Given the description of an element on the screen output the (x, y) to click on. 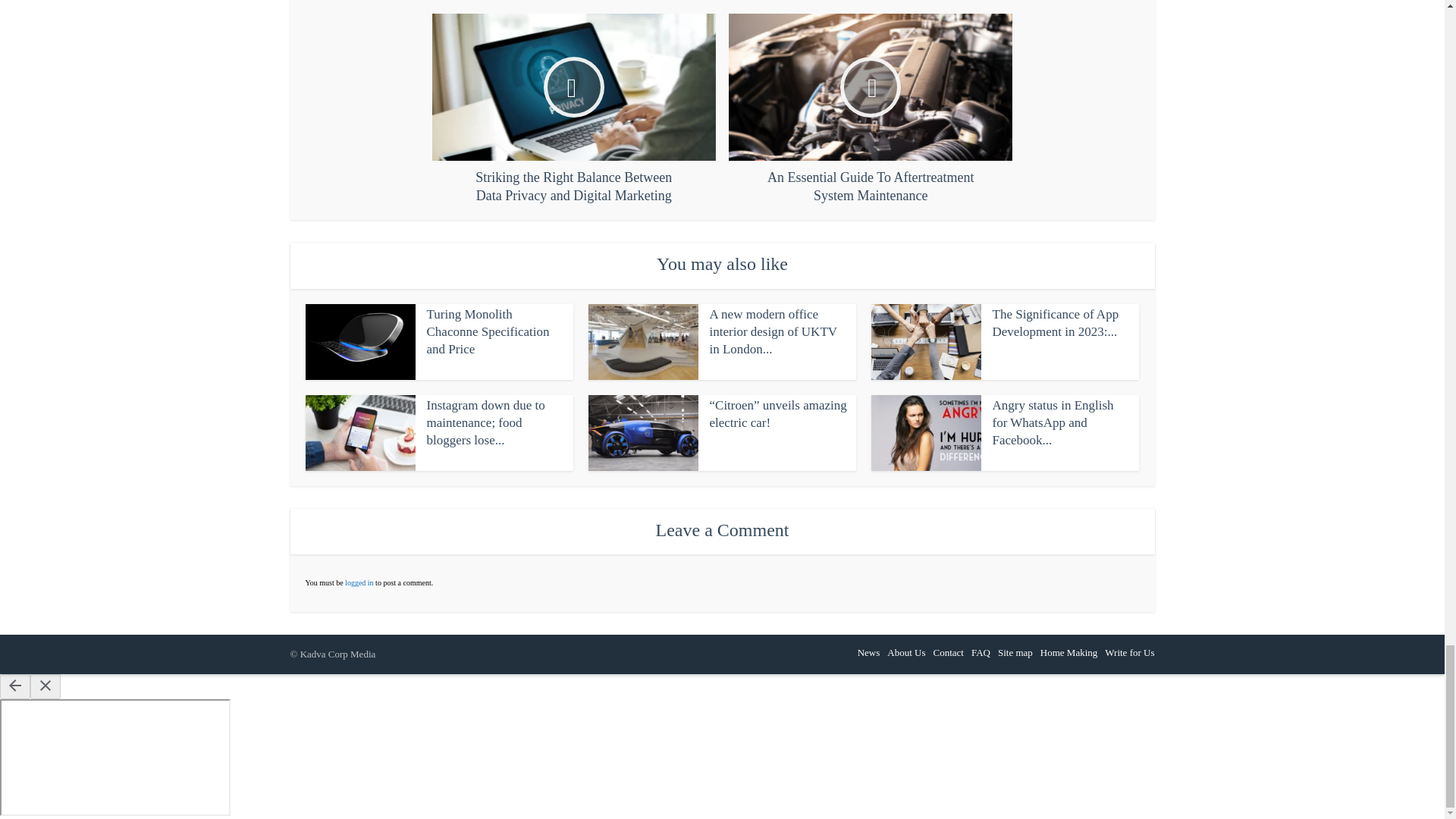
Turing Monolith Chaconne Specification and Price (487, 331)
Instagram down due to maintenance; food bloggers lose... (485, 422)
The Significance of App Development in 2023:... (1054, 323)
Turing Monolith Chaconne Specification and Price (487, 331)
An Essential Guide To Aftertreatment System Maintenance (870, 108)
A new modern office interior design of UKTV in London... (773, 331)
